Given the description of an element on the screen output the (x, y) to click on. 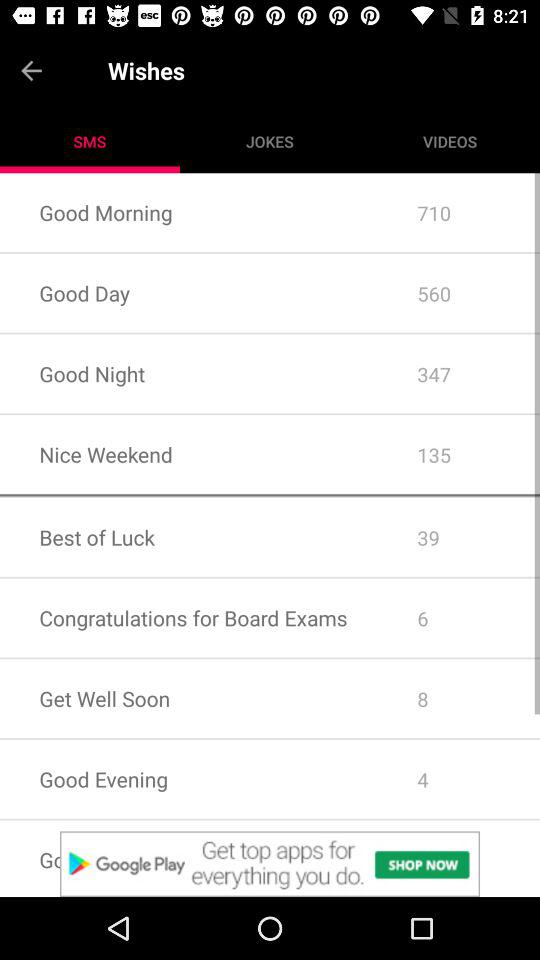
turn off good night app (188, 373)
